Given the description of an element on the screen output the (x, y) to click on. 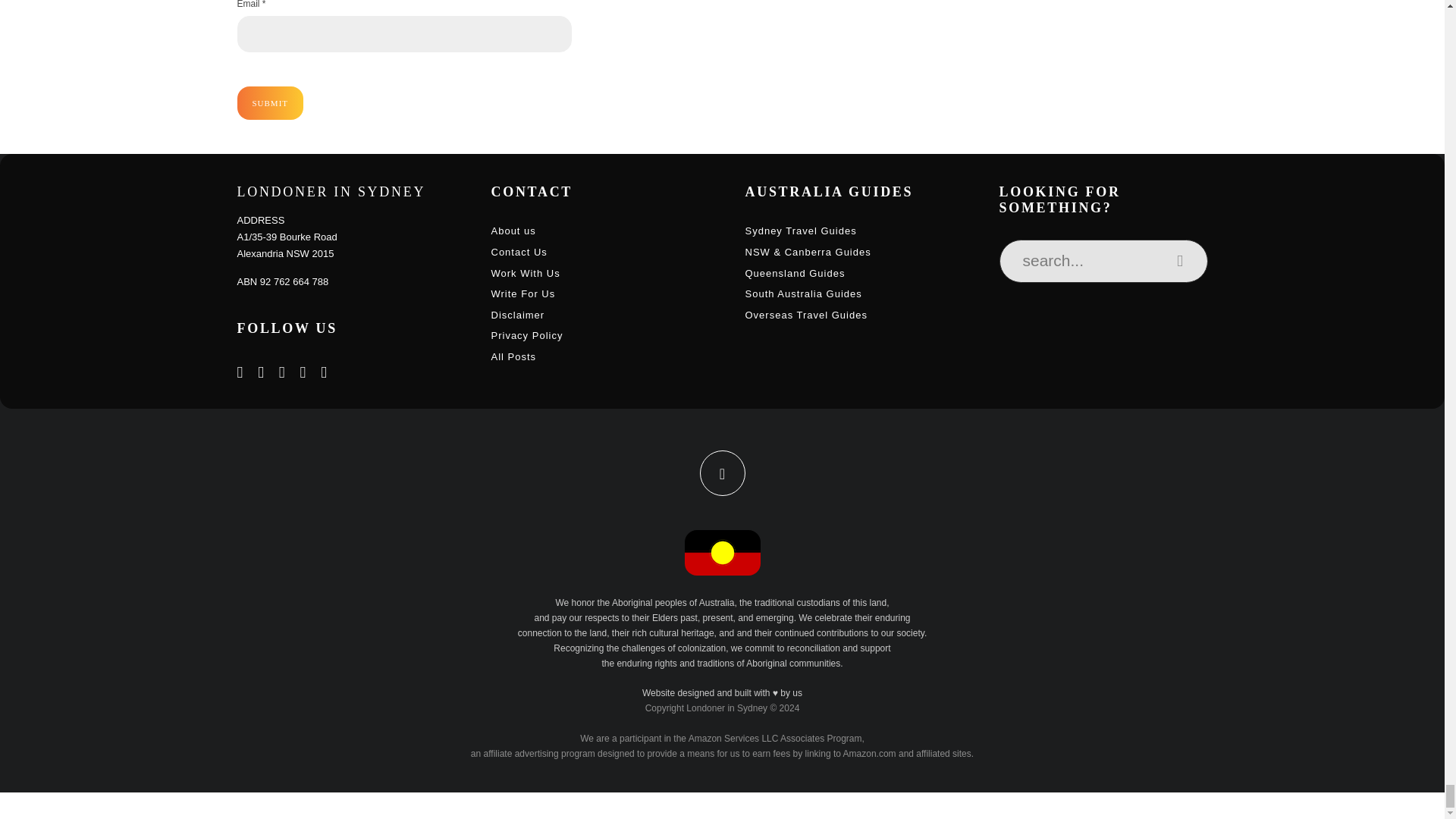
Submit (268, 102)
